Given the description of an element on the screen output the (x, y) to click on. 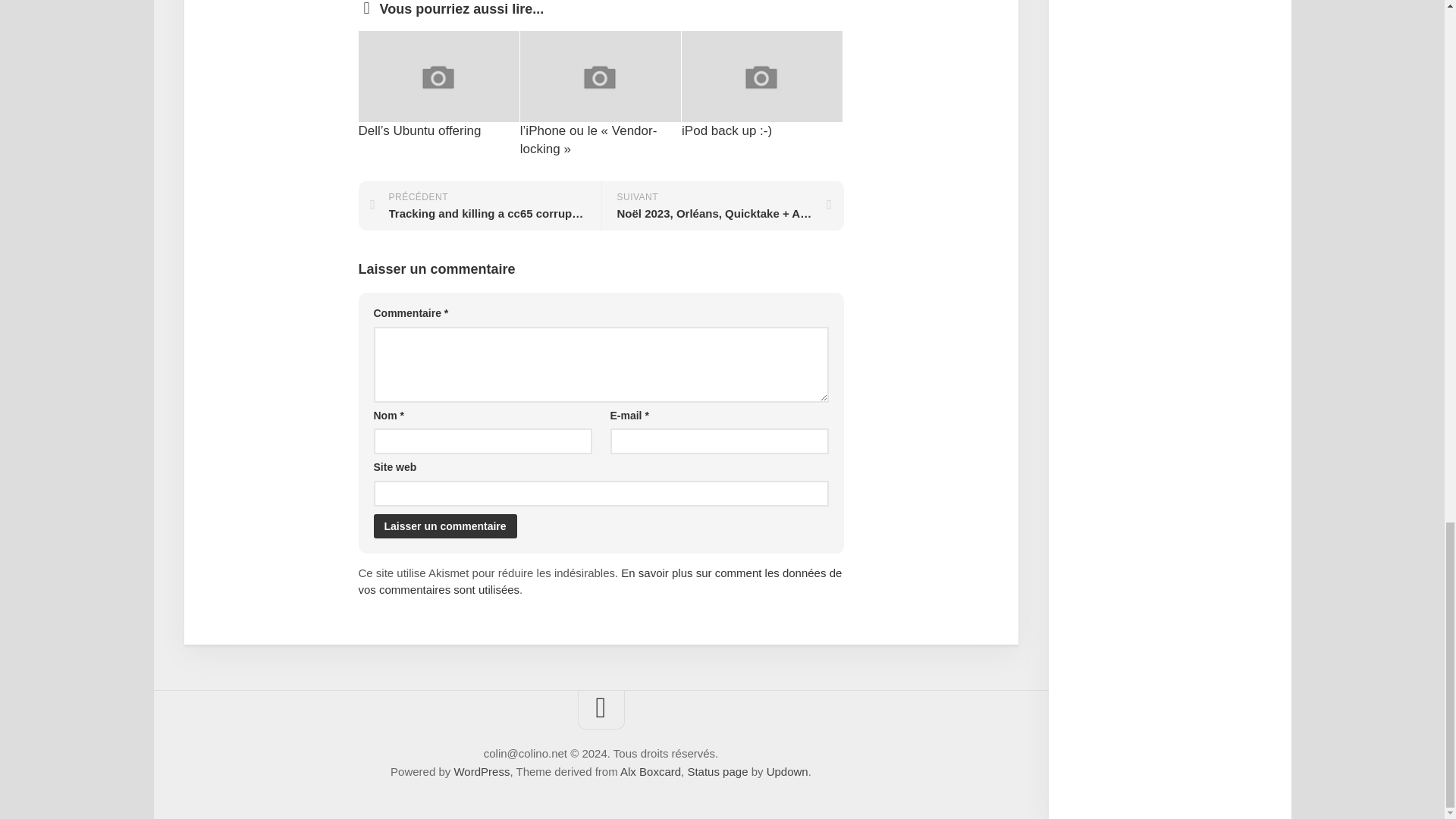
Laisser un commentaire (444, 526)
Laisser un commentaire (444, 526)
Alx Boxcard (650, 771)
Updown (787, 771)
WordPress (480, 771)
Status page (717, 771)
